Given the description of an element on the screen output the (x, y) to click on. 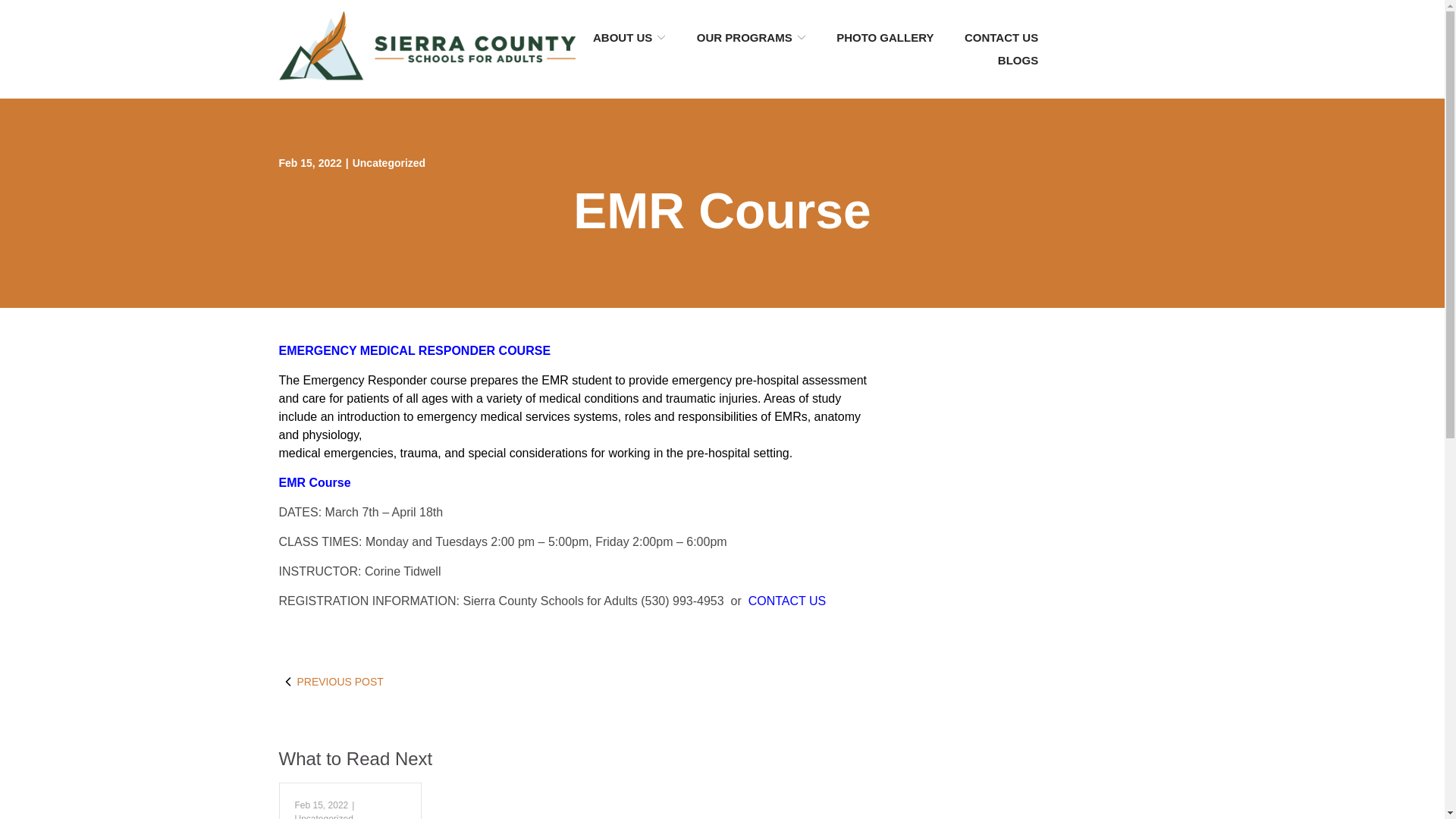
PHOTO GALLERY (884, 37)
Uncategorized (388, 162)
ABOUT US (628, 37)
OUR PROGRAMS (751, 37)
BLOGS (1017, 60)
Uncategorized (323, 816)
CONTACT US (1000, 37)
CONTACT US (787, 600)
530-993-4953 (1108, 49)
PREVIOUS POST (427, 681)
